Given the description of an element on the screen output the (x, y) to click on. 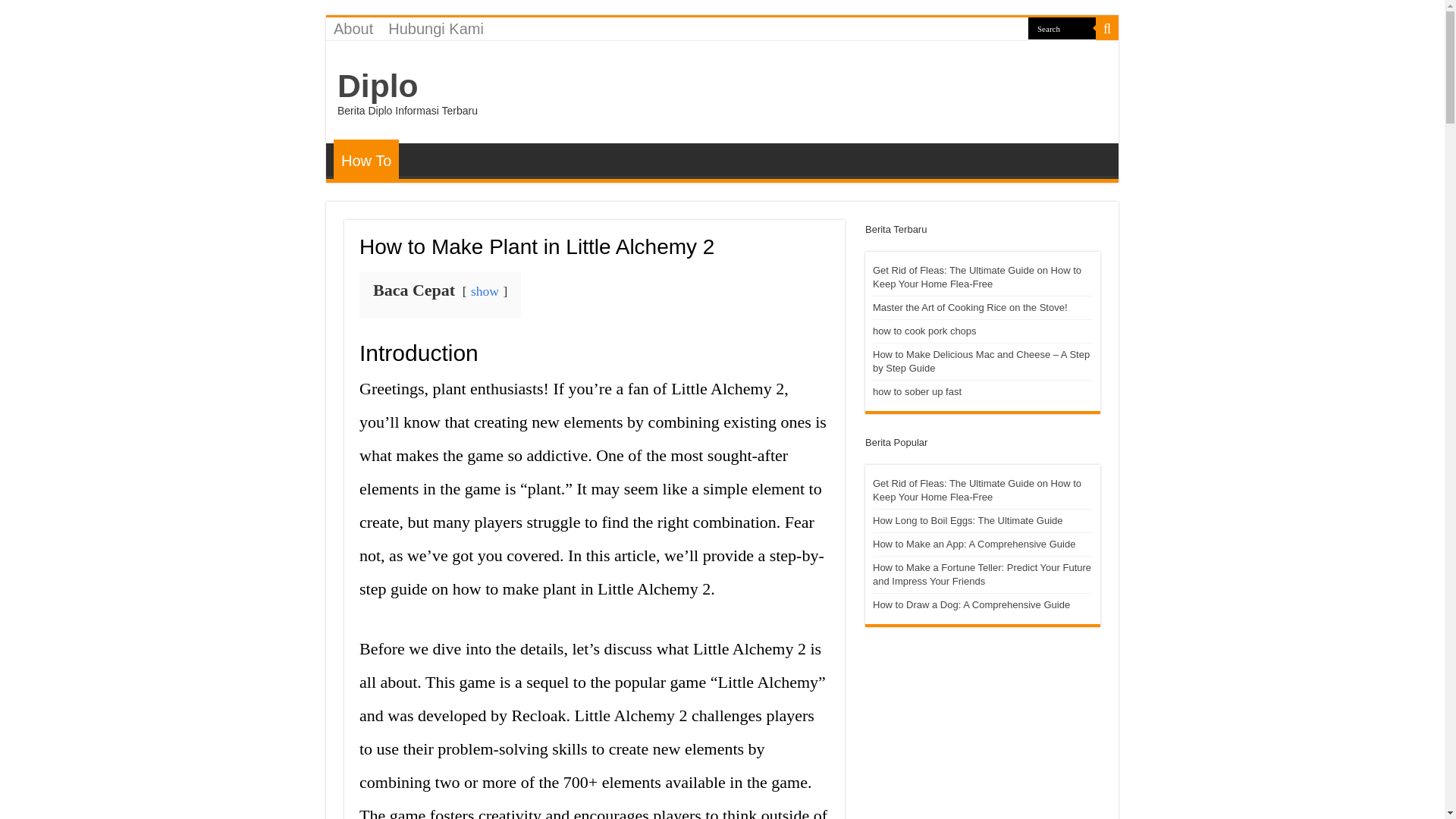
Diplo (378, 85)
how to cook pork chops (924, 330)
About (353, 28)
Search (1107, 28)
Master the Art of Cooking Rice on the Stove! (969, 307)
how to sober up fast (916, 391)
Search (1061, 28)
How To (365, 159)
Search (1061, 28)
Search (1061, 28)
Hubungi Kami (436, 28)
show (484, 290)
